Given the description of an element on the screen output the (x, y) to click on. 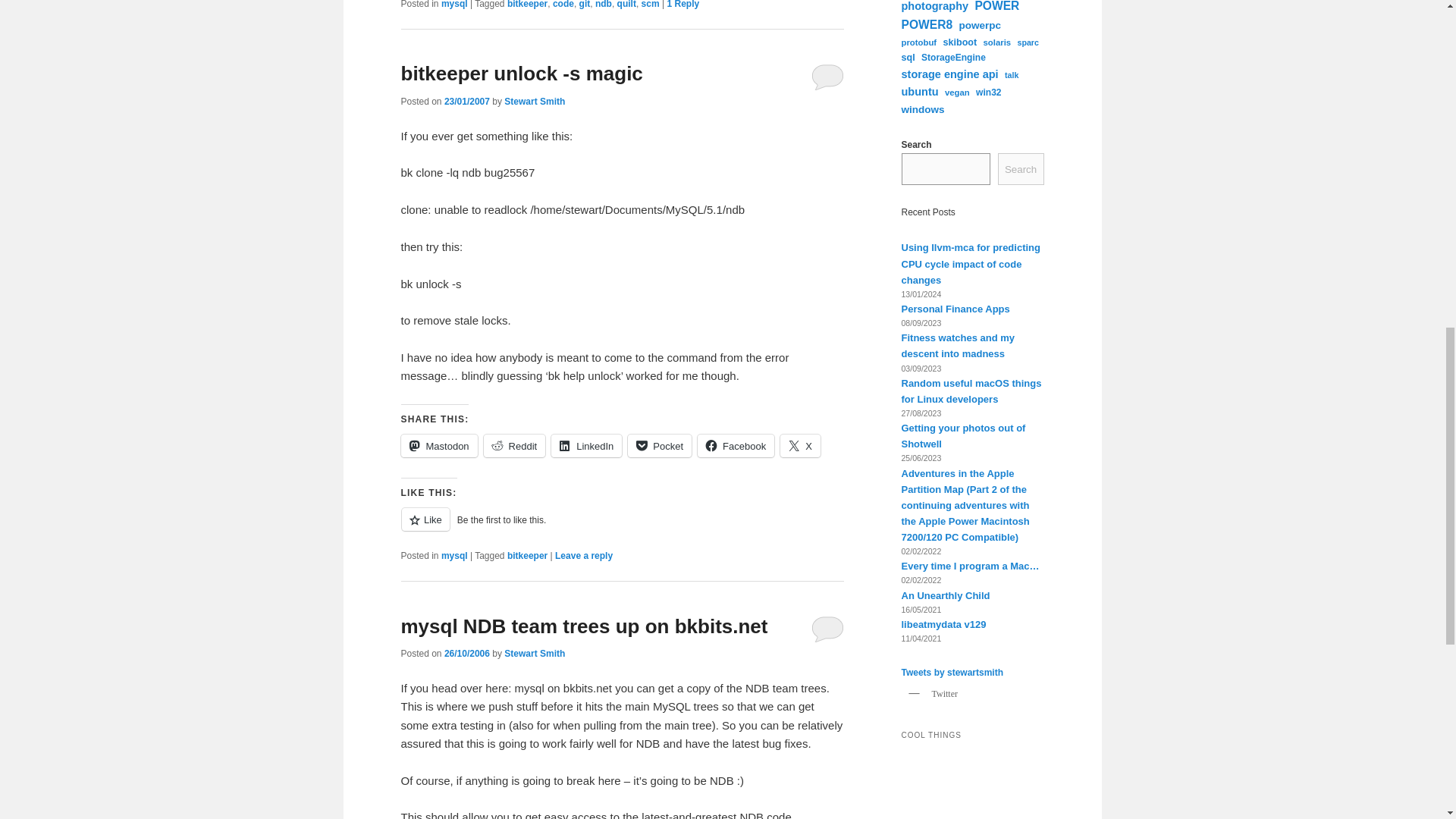
bitkeeper (526, 4)
mysql (454, 4)
1 Reply (682, 4)
Pocket (659, 445)
mysql (454, 555)
4:23 pm (466, 101)
quilt (626, 4)
LinkedIn (586, 445)
Click to share on Reddit (514, 445)
Click to share on Mastodon (438, 445)
Reddit (514, 445)
ndb (603, 4)
Click to share on LinkedIn (586, 445)
Stewart Smith (533, 101)
Mastodon (438, 445)
